Given the description of an element on the screen output the (x, y) to click on. 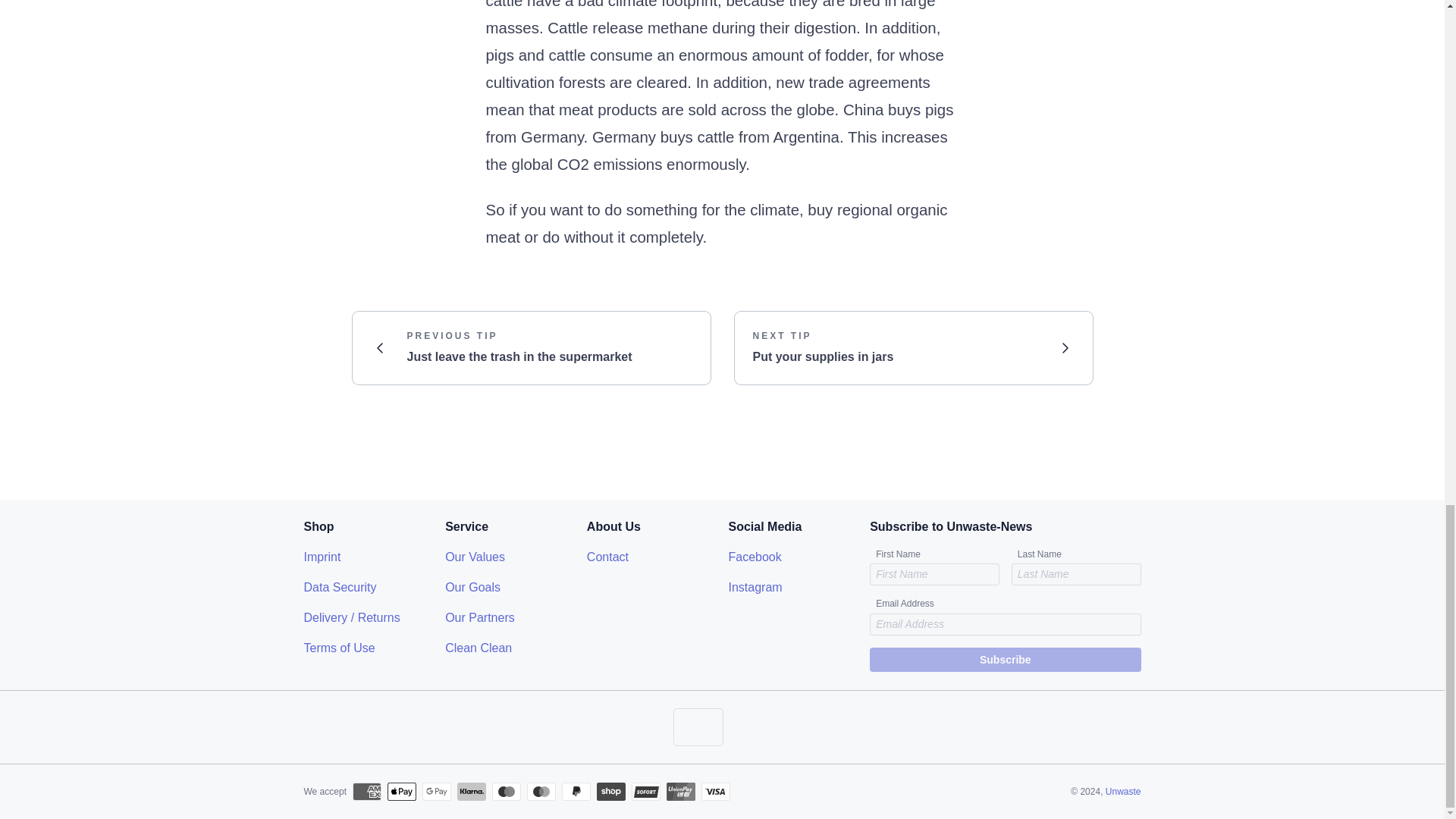
Terms of Use (338, 647)
Facebook (754, 556)
Instagram (754, 586)
Our Values (475, 556)
Our Goals (912, 348)
Data Security (472, 586)
Imprint (339, 586)
Our Partners (321, 556)
Subscribe (480, 617)
Unwaste (531, 348)
Clean Clean (1004, 659)
Contact (1123, 791)
